Given the description of an element on the screen output the (x, y) to click on. 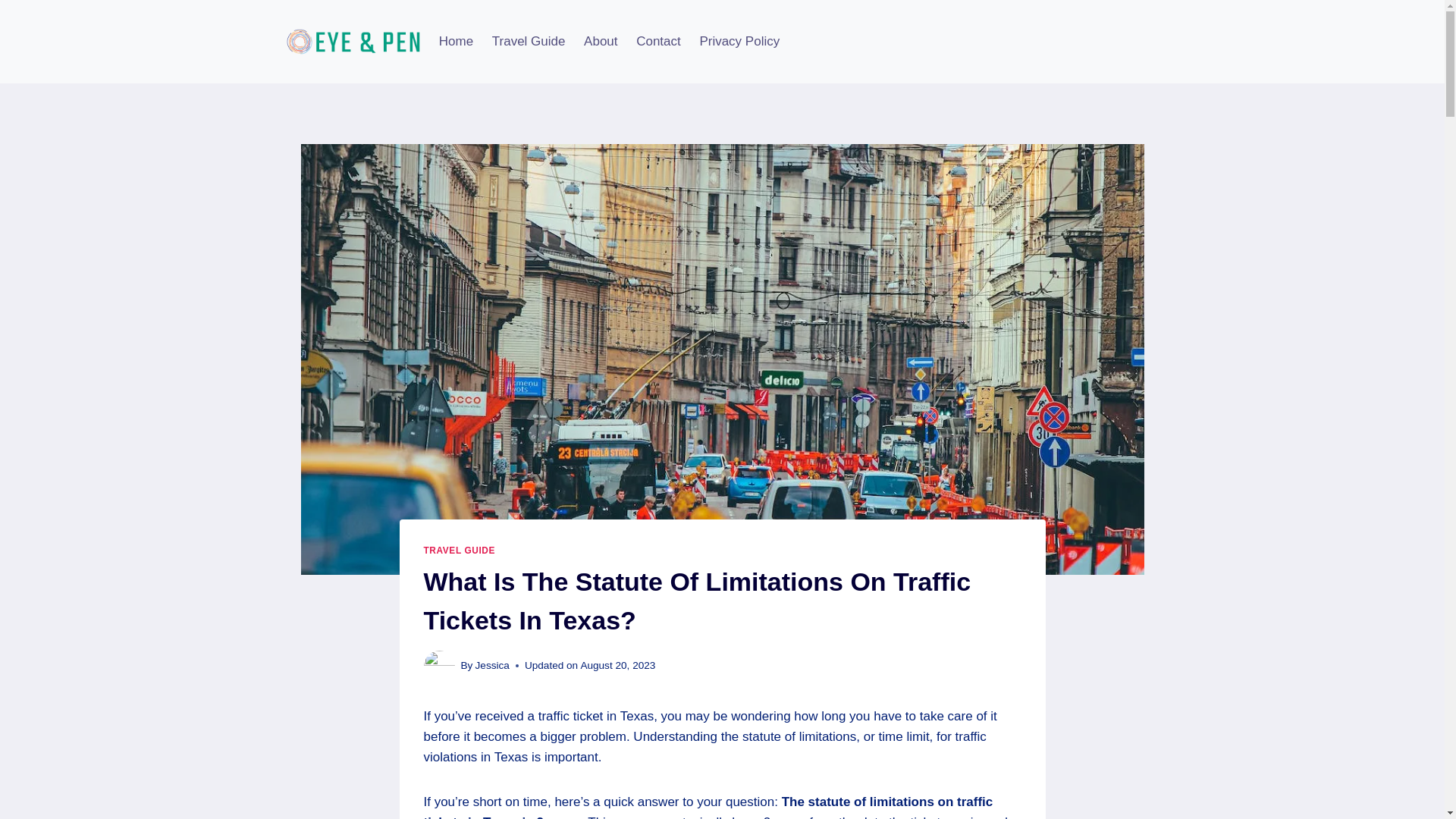
About (601, 41)
Travel Guide (527, 41)
Jessica (492, 665)
TRAVEL GUIDE (459, 550)
Contact (658, 41)
Privacy Policy (739, 41)
Home (455, 41)
